Given the description of an element on the screen output the (x, y) to click on. 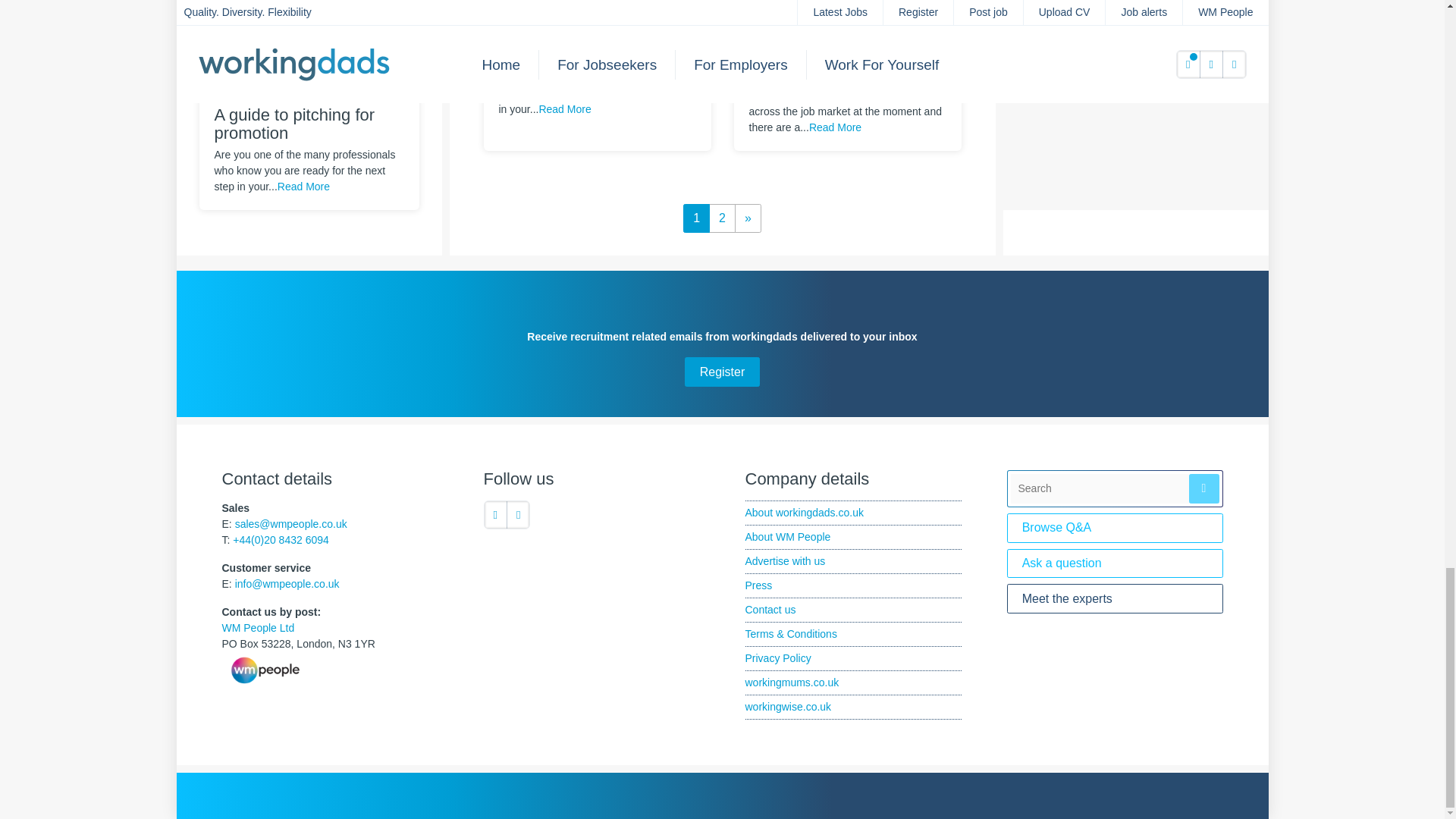
A guide to pitching for promotion (308, 13)
